Given the description of an element on the screen output the (x, y) to click on. 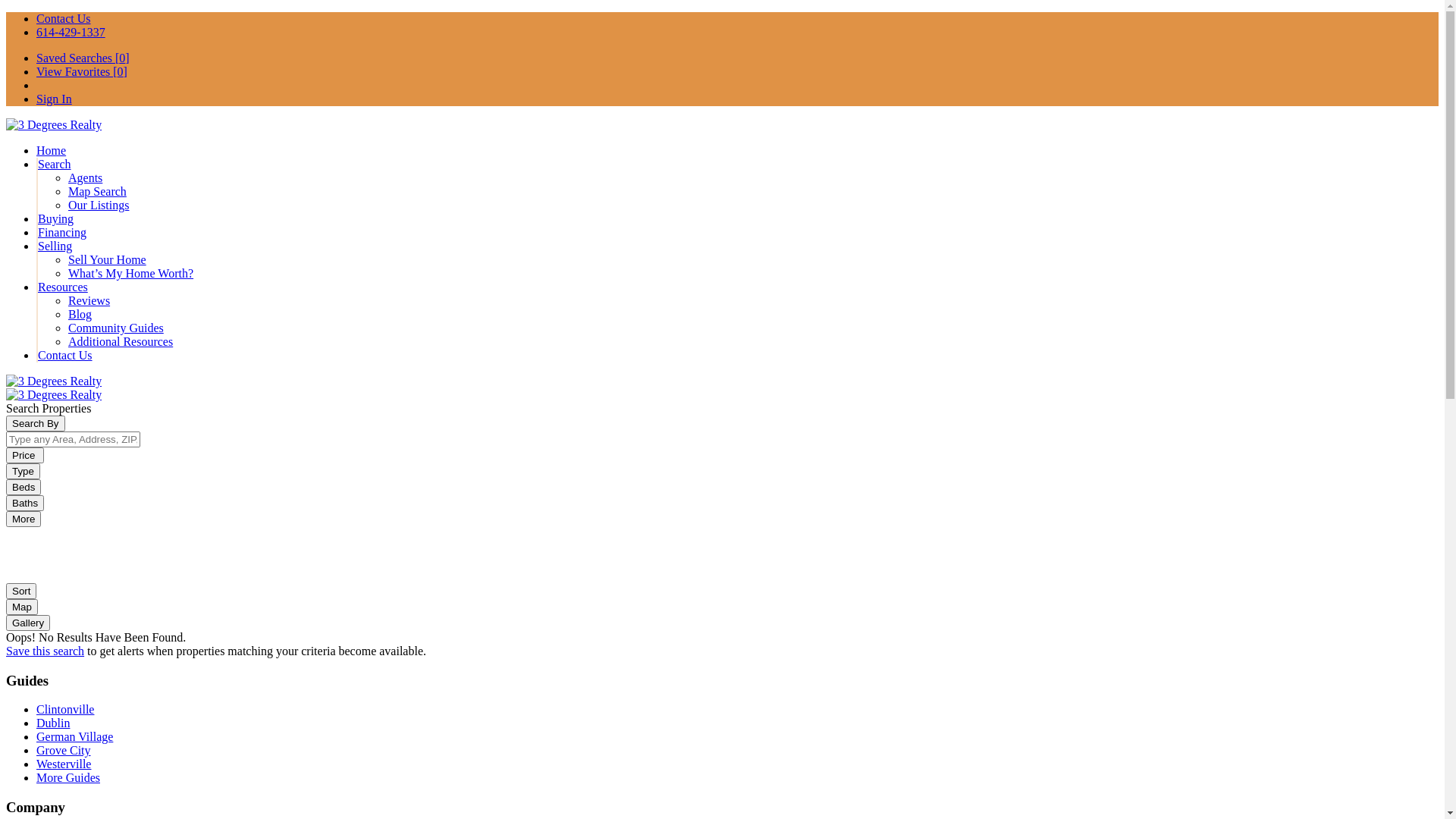
Dublin Element type: text (52, 722)
Search By Element type: text (35, 423)
Agents Element type: text (85, 177)
Blog Element type: text (79, 313)
Community Guides Element type: text (115, 327)
German Village Element type: text (74, 736)
Our Listings Element type: text (98, 204)
Save this search Element type: text (45, 650)
Sell Your Home Element type: text (107, 259)
Search Element type: text (54, 163)
Map Search Element type: text (97, 191)
View Favorites [0] Element type: text (81, 71)
Saved Searches [0] Element type: text (82, 57)
Financing Element type: text (61, 231)
Resources Element type: text (62, 286)
Westerville Element type: text (63, 763)
Beds Element type: text (23, 487)
Grove City Element type: text (63, 749)
More Element type: text (23, 519)
Selling Element type: text (54, 245)
Home Element type: text (50, 150)
Baths Element type: text (24, 503)
Map Element type: text (21, 605)
Contact Us Element type: text (64, 354)
Gallery Element type: text (28, 621)
Price  Element type: text (24, 455)
Buying Element type: text (55, 218)
Sort Element type: text (21, 591)
614-429-1337 Element type: text (70, 31)
Type Element type: text (23, 471)
Map Element type: text (21, 607)
Contact Us Element type: text (63, 18)
Clintonville Element type: text (65, 708)
Additional Resources Element type: text (120, 341)
Gallery Element type: text (28, 622)
More Guides Element type: text (68, 777)
Sign In Element type: text (54, 98)
Reviews Element type: text (88, 300)
